Given the description of an element on the screen output the (x, y) to click on. 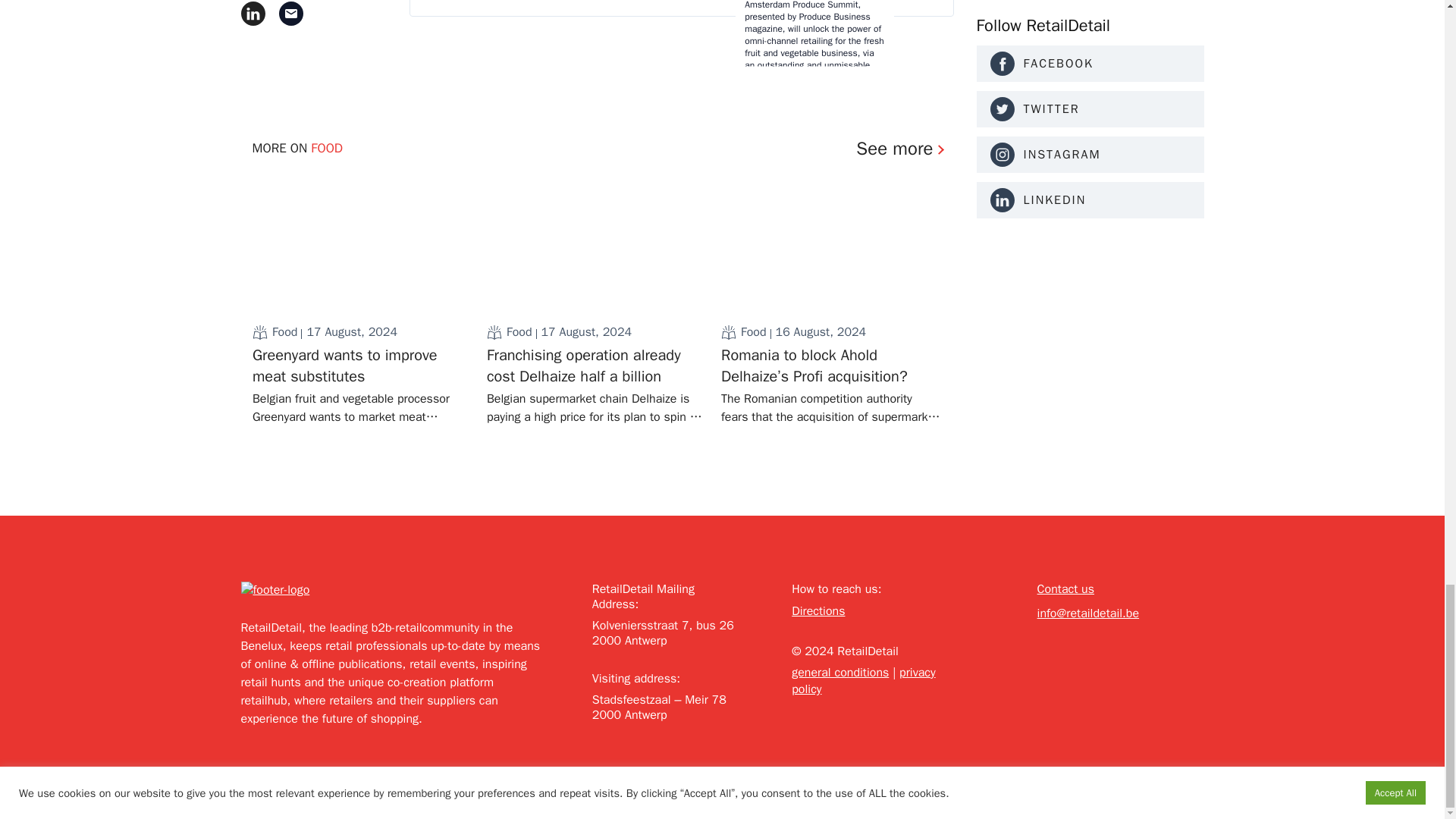
privacy policy (863, 681)
general conditions (840, 672)
Article (728, 331)
Article (494, 331)
Article (259, 331)
